Given the description of an element on the screen output the (x, y) to click on. 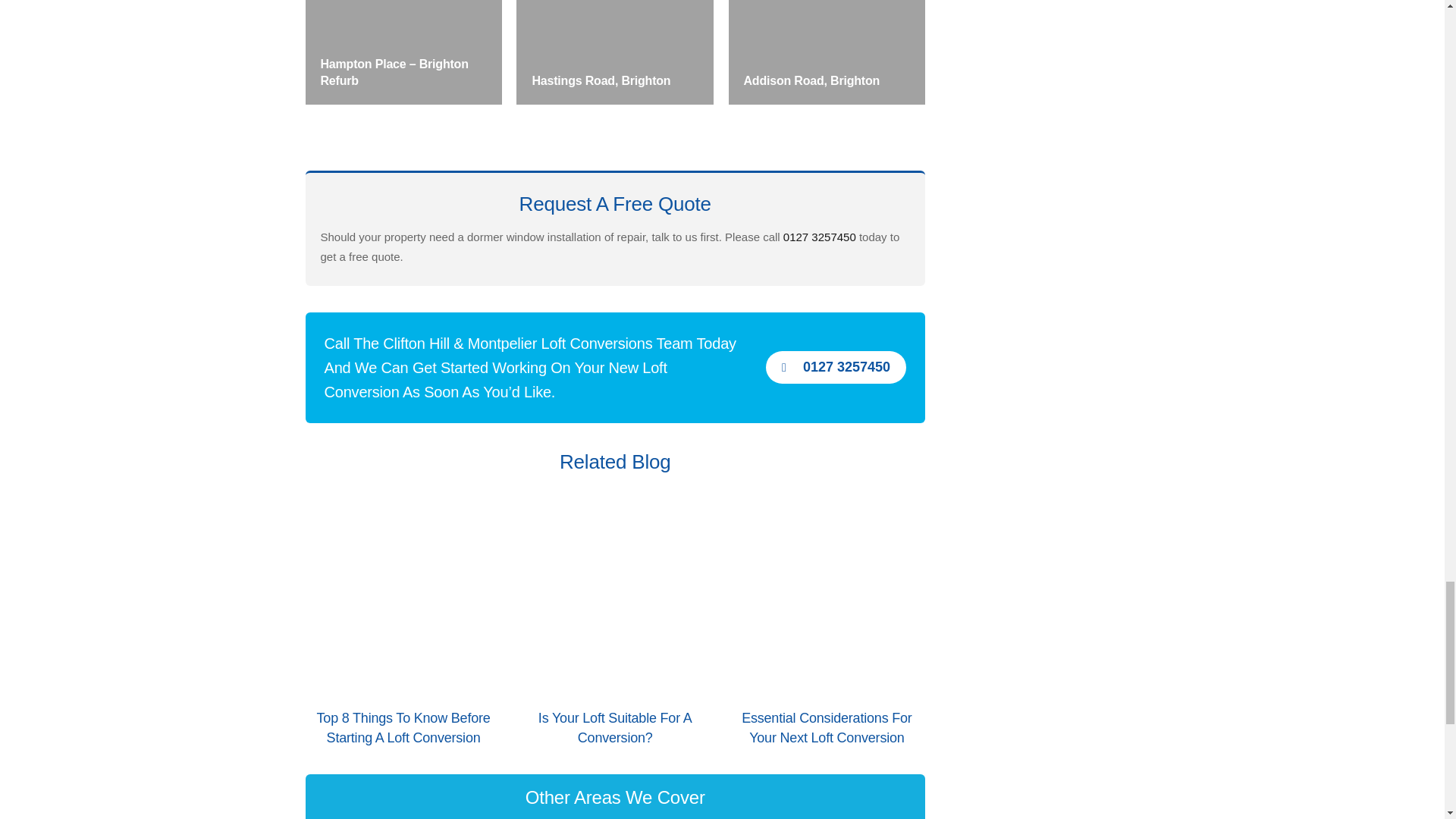
Top 8 Things to Know Before Starting a Loft Conversion (403, 727)
Is your loft suitable for a conversion? (614, 598)
Top 8 Things to Know Before Starting a Loft Conversion (402, 598)
